Given the description of an element on the screen output the (x, y) to click on. 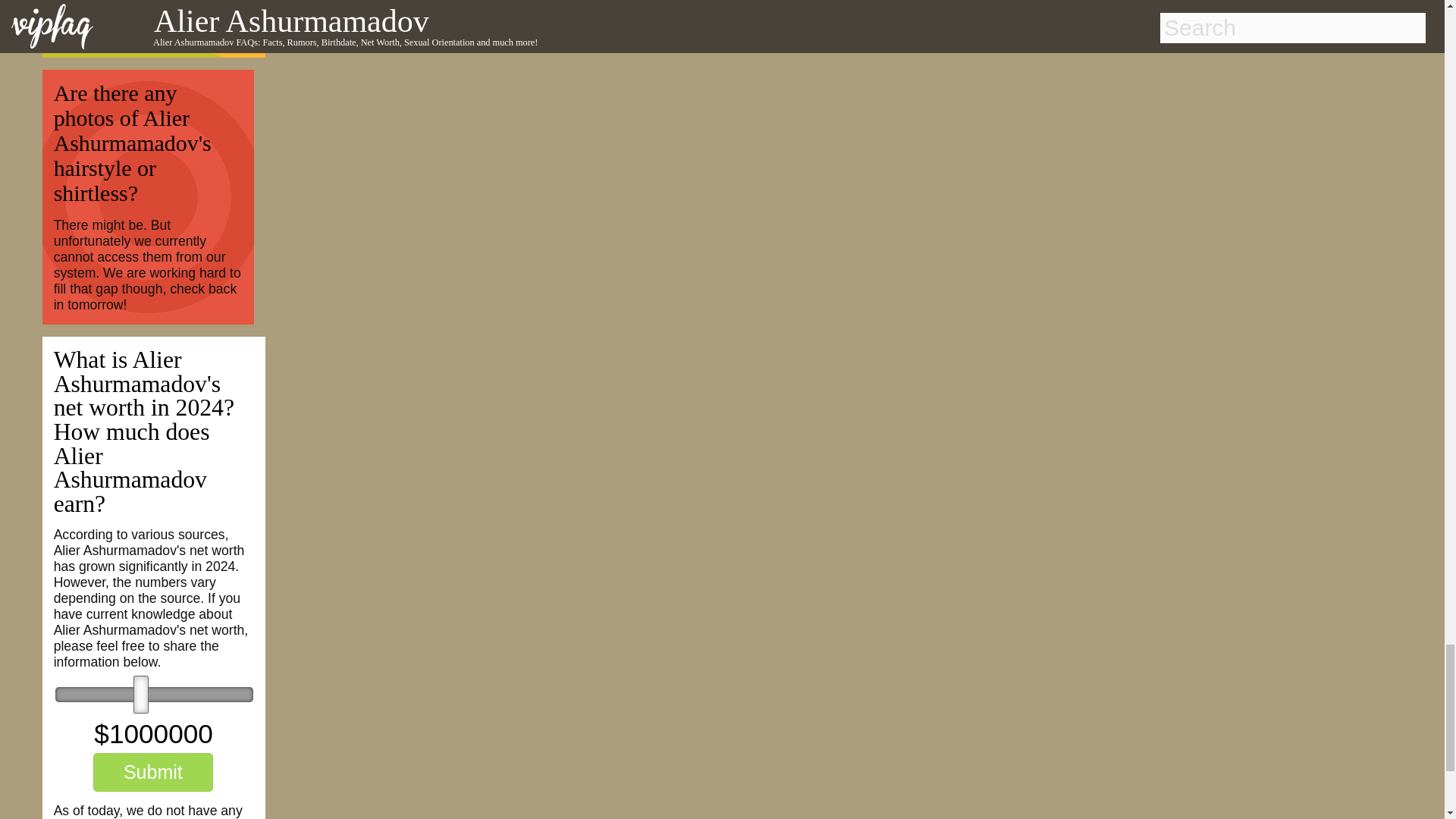
Submit (152, 771)
6 (154, 694)
